Given the description of an element on the screen output the (x, y) to click on. 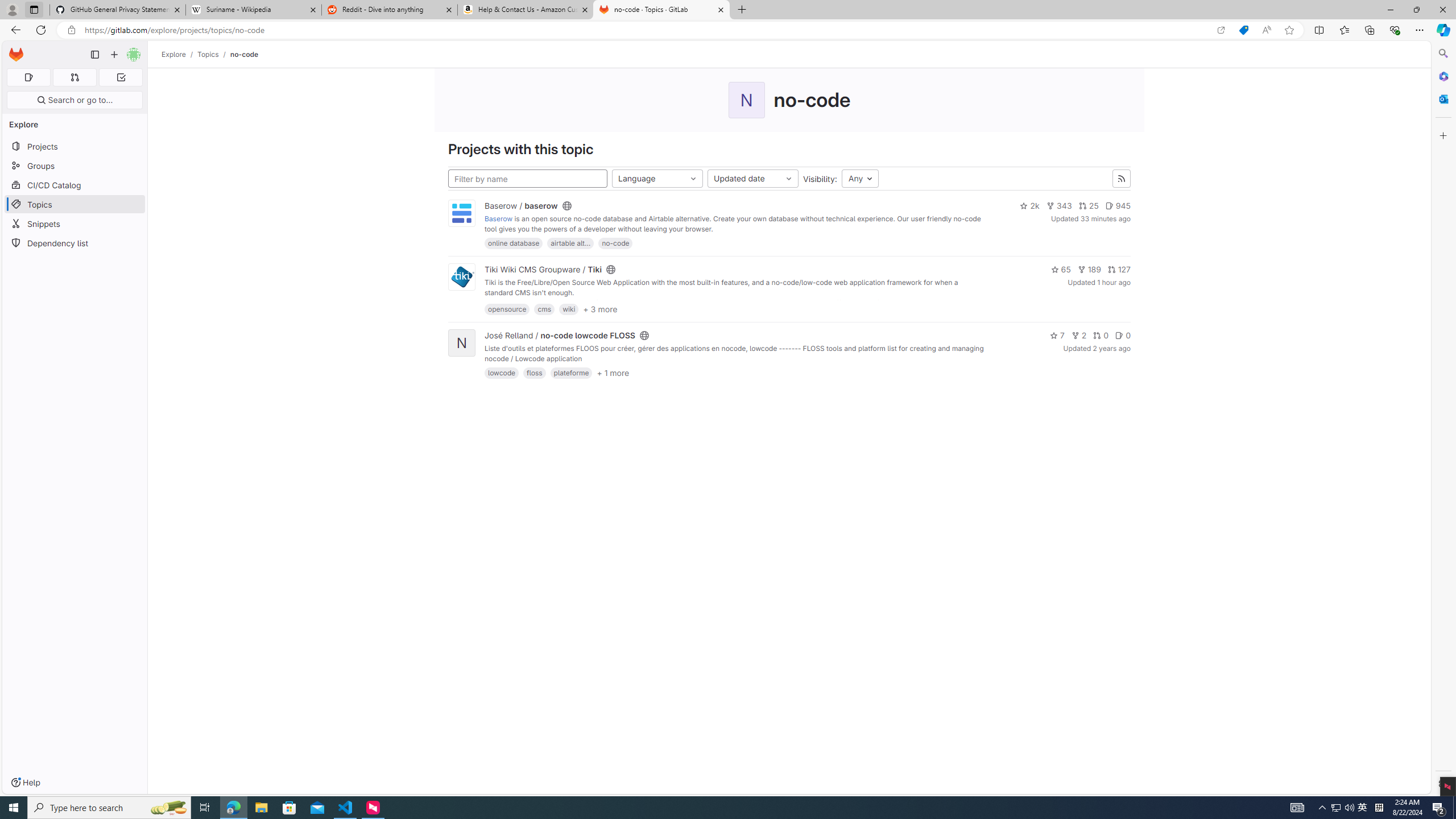
Open in app (1220, 29)
Dependency list (74, 242)
https://dev.tiki.org/Where-To-Commit (878, 302)
Filter by name (527, 178)
2k (1029, 205)
Class: s16 gl-icon gl-button-icon  (1120, 178)
N (462, 343)
Projects (74, 145)
Topics/ (214, 53)
